Given the description of an element on the screen output the (x, y) to click on. 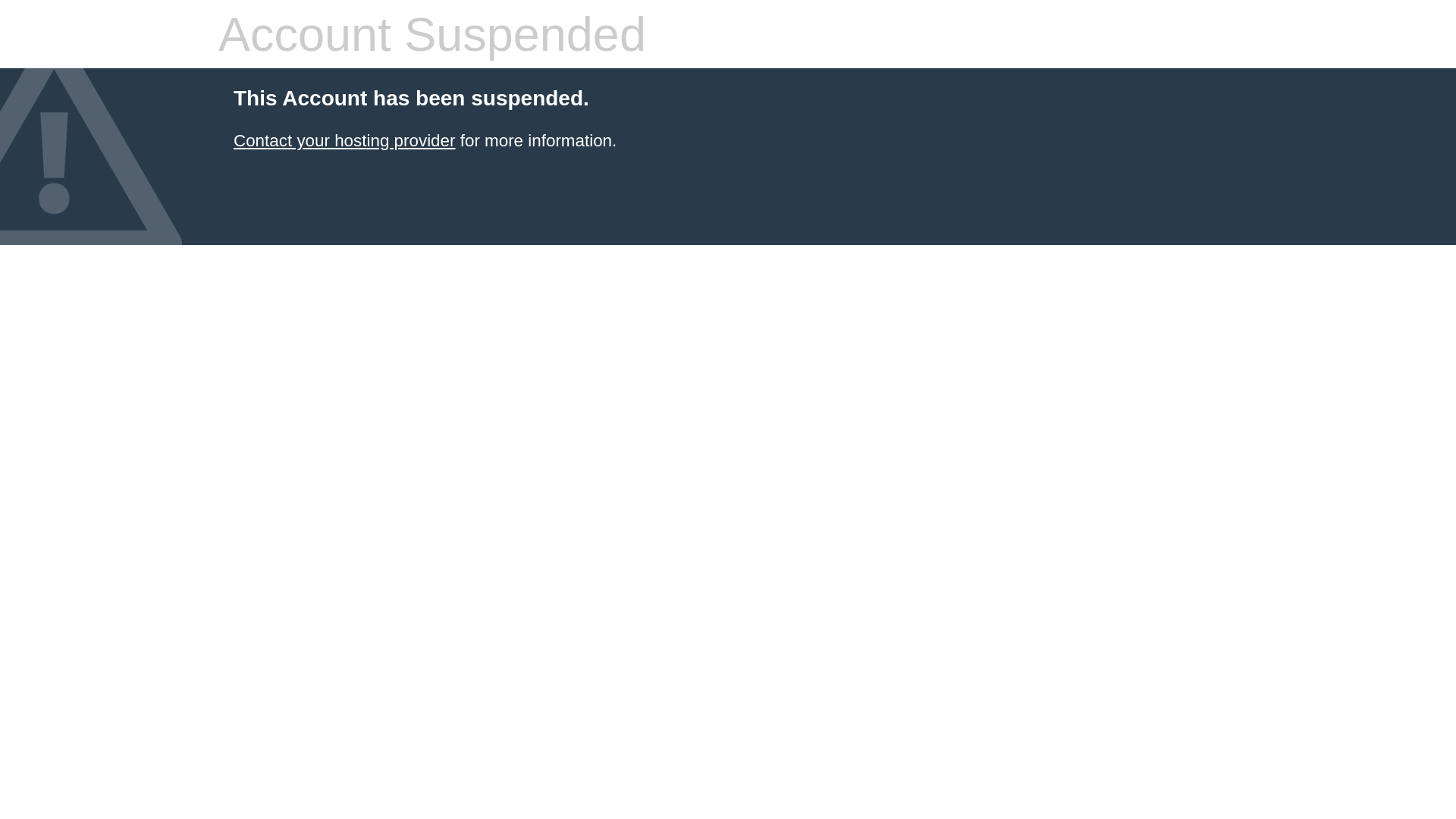
Contact your hosting provider Element type: text (344, 140)
